Given the description of an element on the screen output the (x, y) to click on. 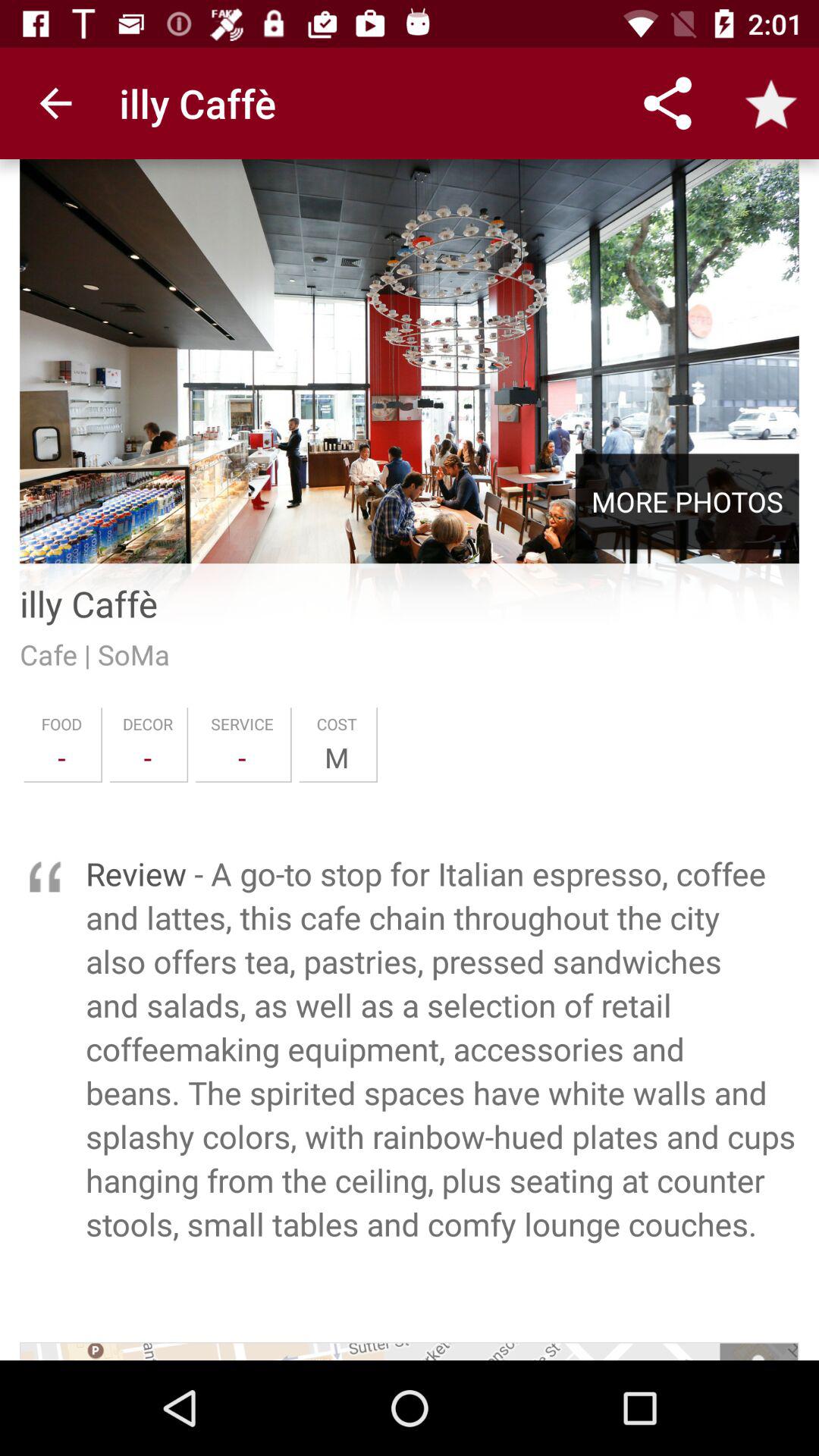
turn off the more photos item (687, 501)
